Given the description of an element on the screen output the (x, y) to click on. 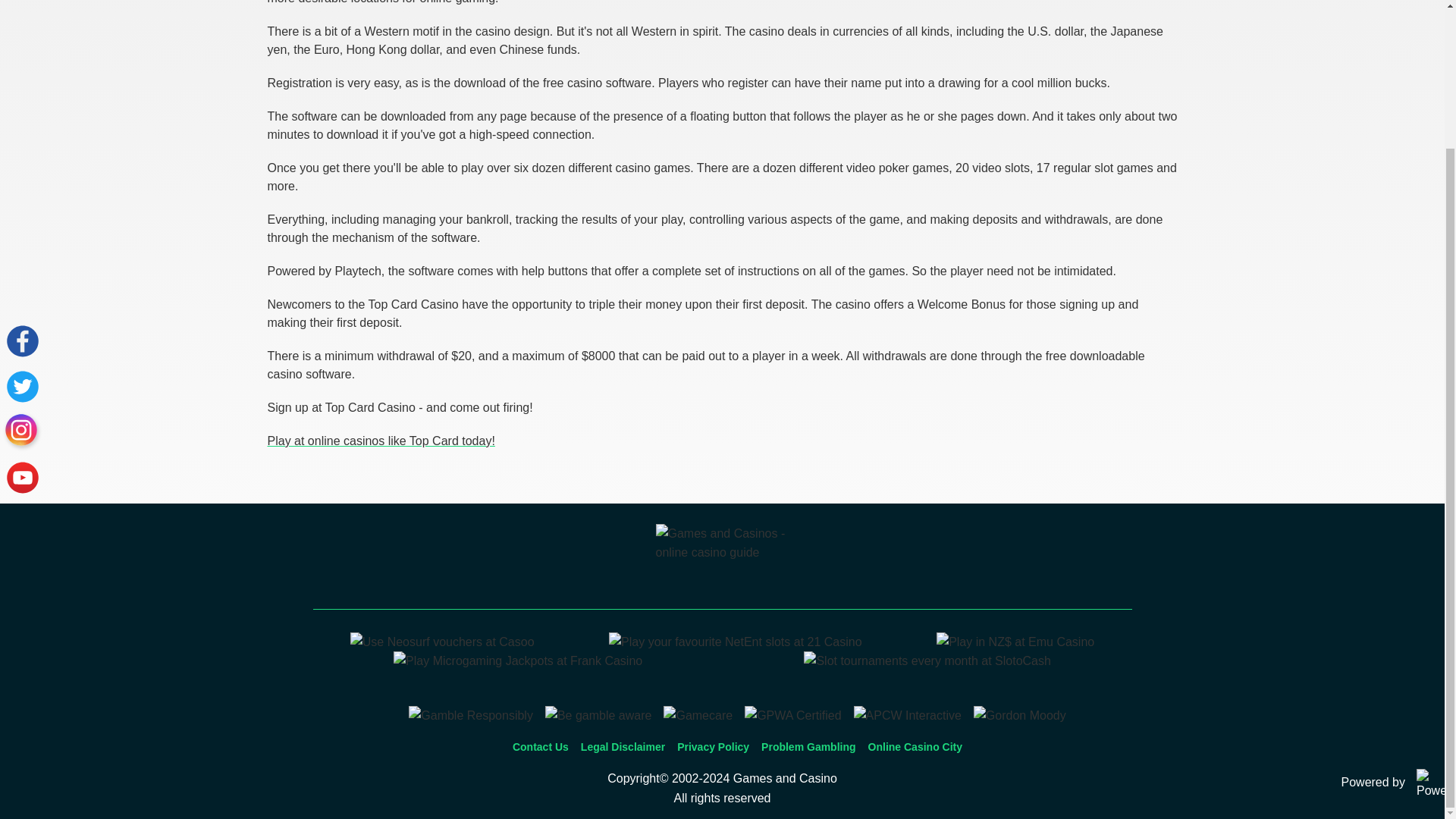
Sloto'Cash Casino (927, 660)
Casoo Casino (442, 641)
21 Casino (734, 641)
Games and Casinos - online casino guide (722, 561)
EmuCasino (1015, 641)
Frank Casino (517, 660)
